Given the description of an element on the screen output the (x, y) to click on. 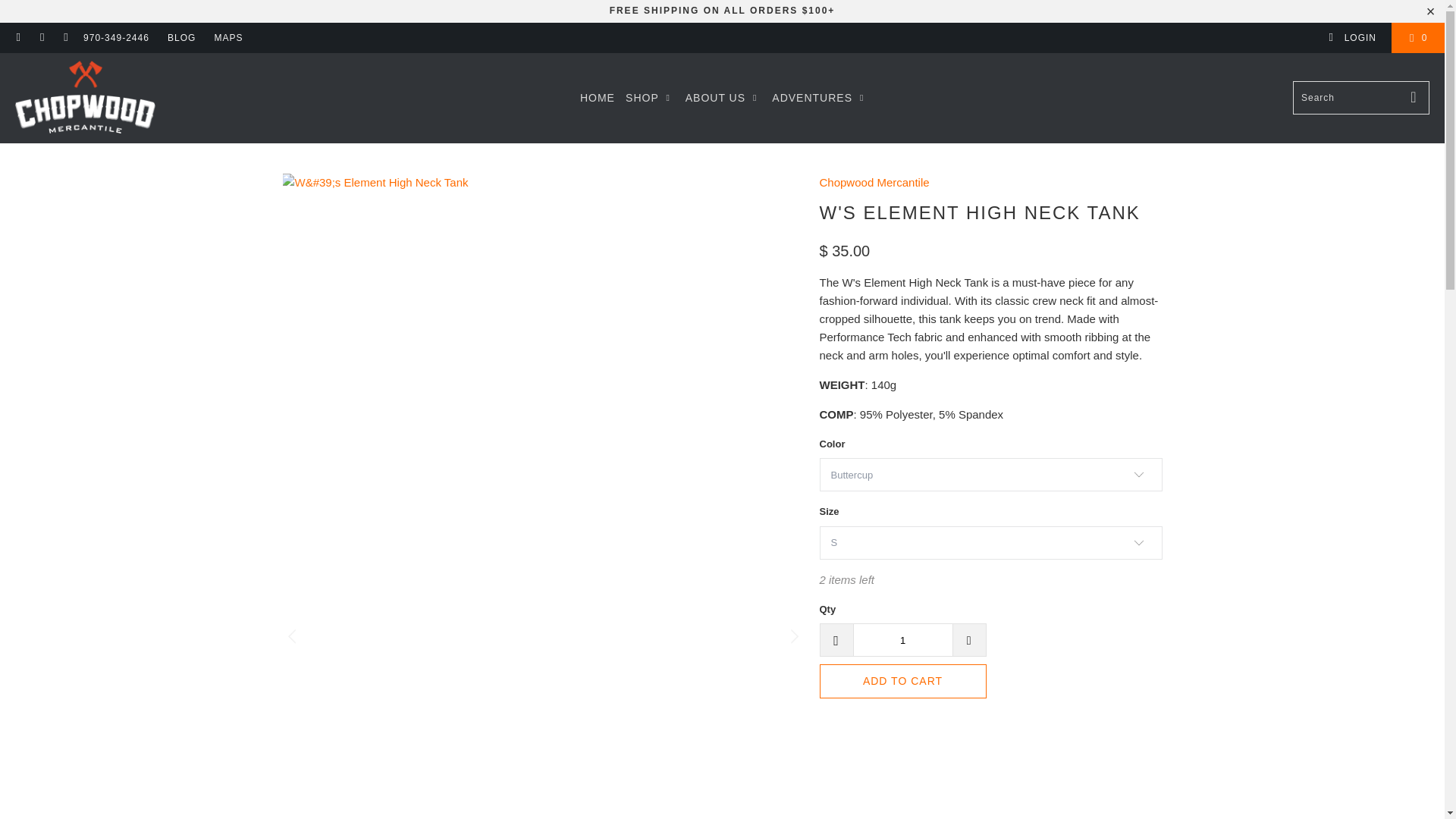
Chopwood Mercantile on Instagram (41, 37)
Chopwood Mercantile (84, 97)
My Account  (1351, 37)
Chopwood Mercantile (873, 182)
Chopwood Mercantile on Facebook (17, 37)
1 (901, 639)
Email Chopwood Mercantile (65, 37)
